Given the description of an element on the screen output the (x, y) to click on. 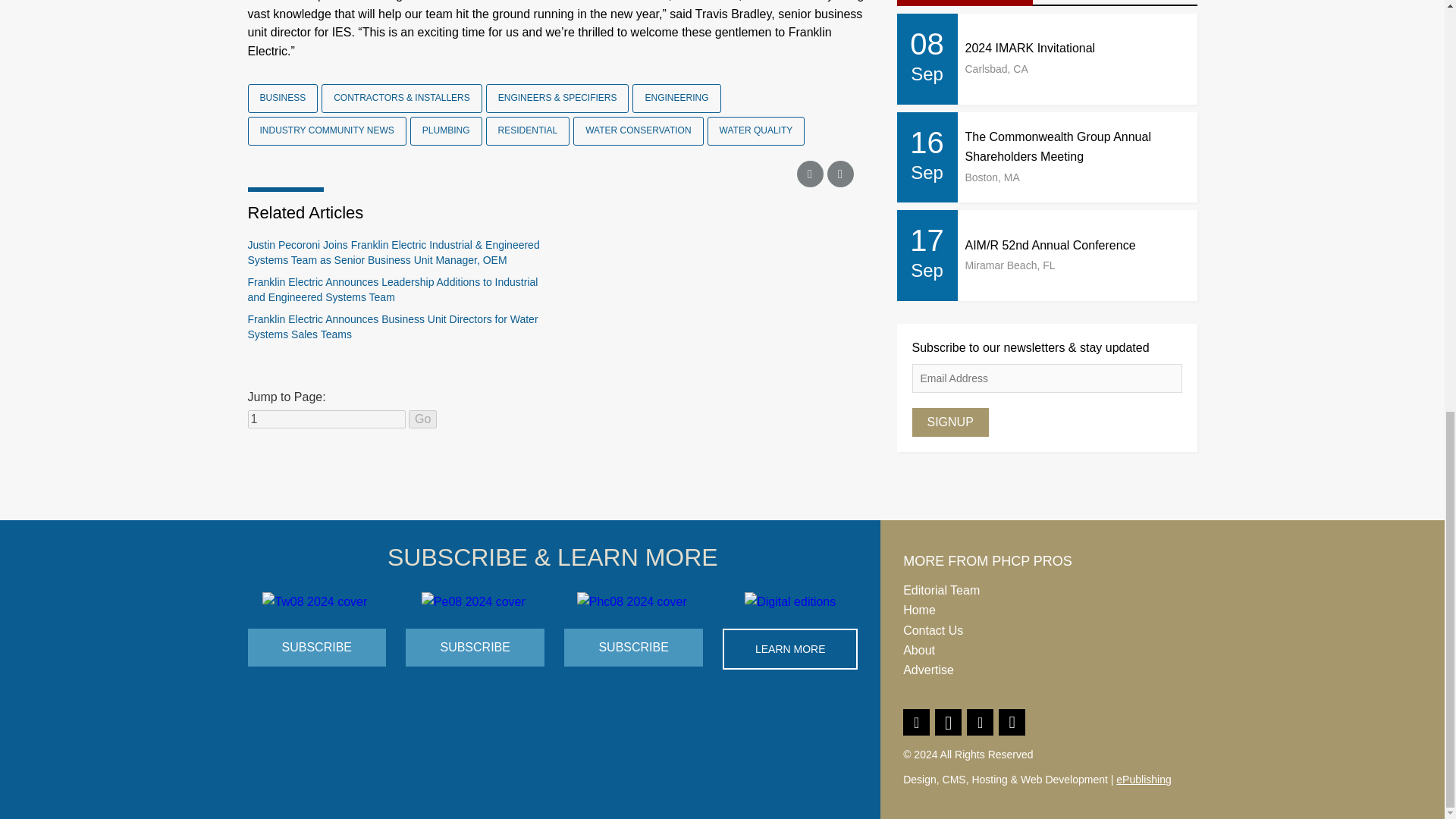
SIGNUP (949, 421)
Go (422, 419)
1 (325, 419)
